Given the description of an element on the screen output the (x, y) to click on. 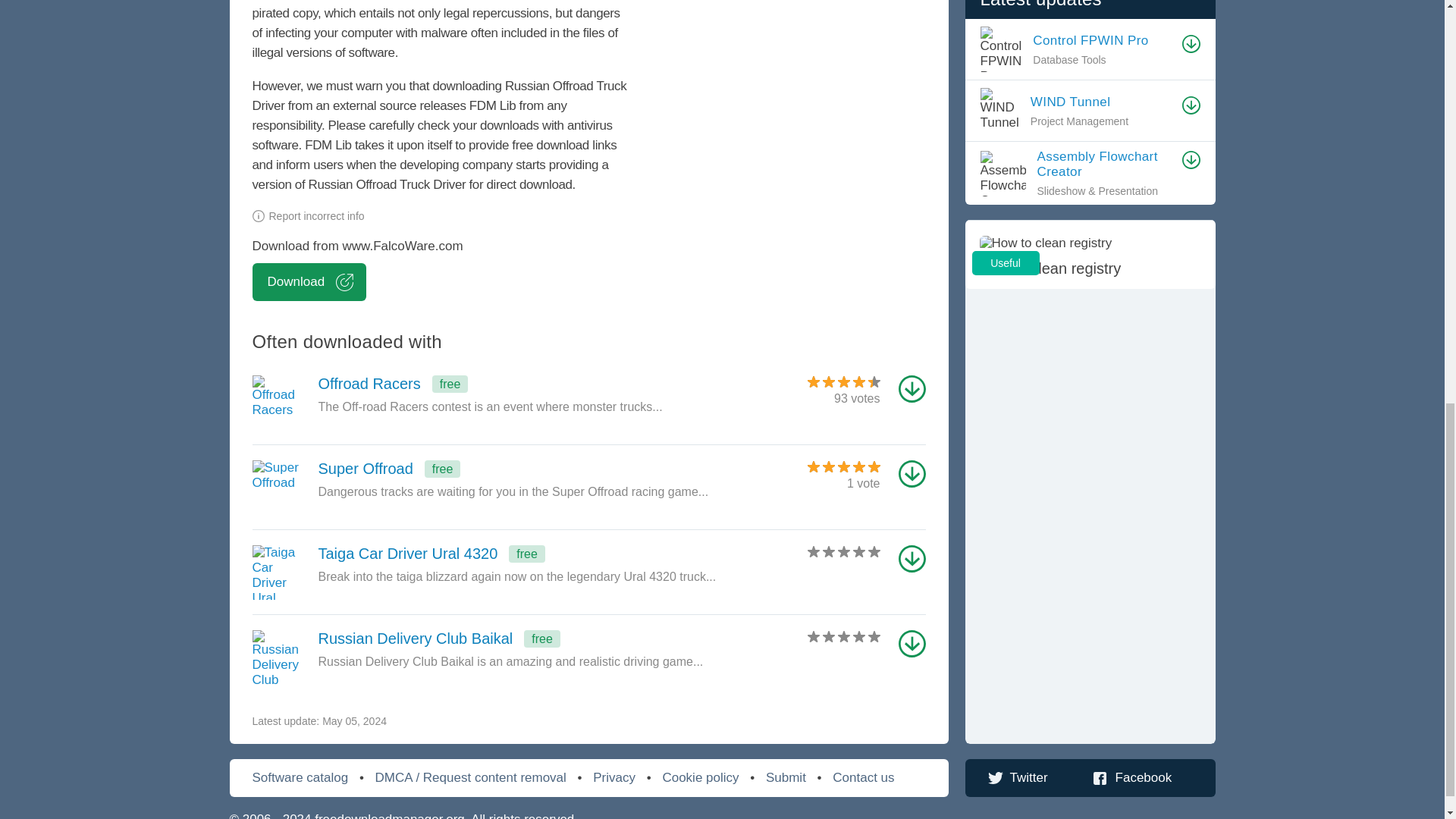
Taiga Car Driver Ural 4320 (521, 557)
How to clean registry (521, 472)
Assembly Flowchart Creator (1088, 254)
Control FPWIN Pro (1104, 164)
Super Offroad (1102, 40)
Offroad Racers (521, 641)
WIND Tunnel (521, 472)
